Given the description of an element on the screen output the (x, y) to click on. 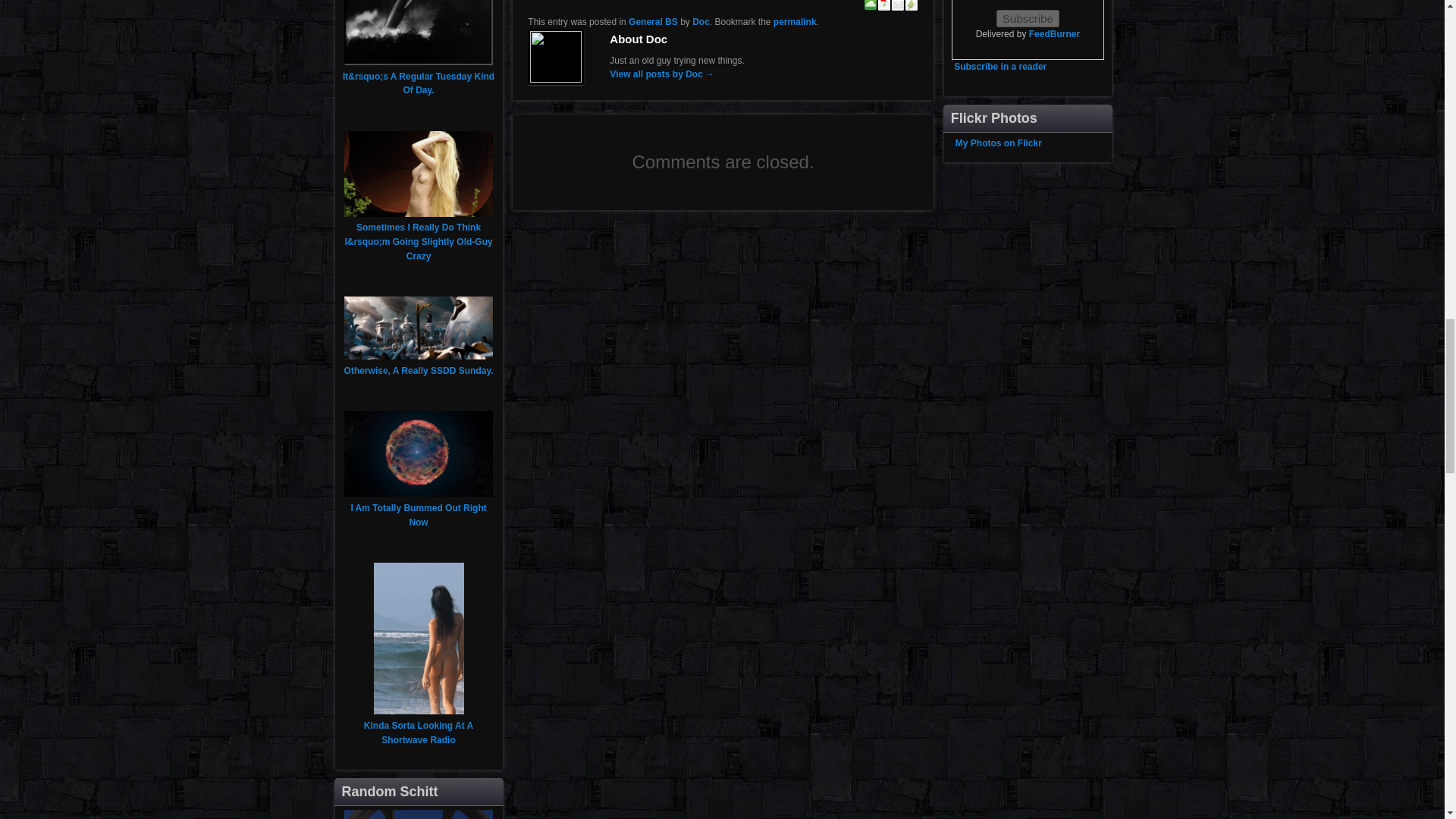
permalink (794, 21)
Save page (870, 6)
PDF page (884, 6)
Email page (897, 6)
General BS (653, 21)
Print page (911, 6)
Subscribe (1027, 18)
Doc (701, 21)
